Given the description of an element on the screen output the (x, y) to click on. 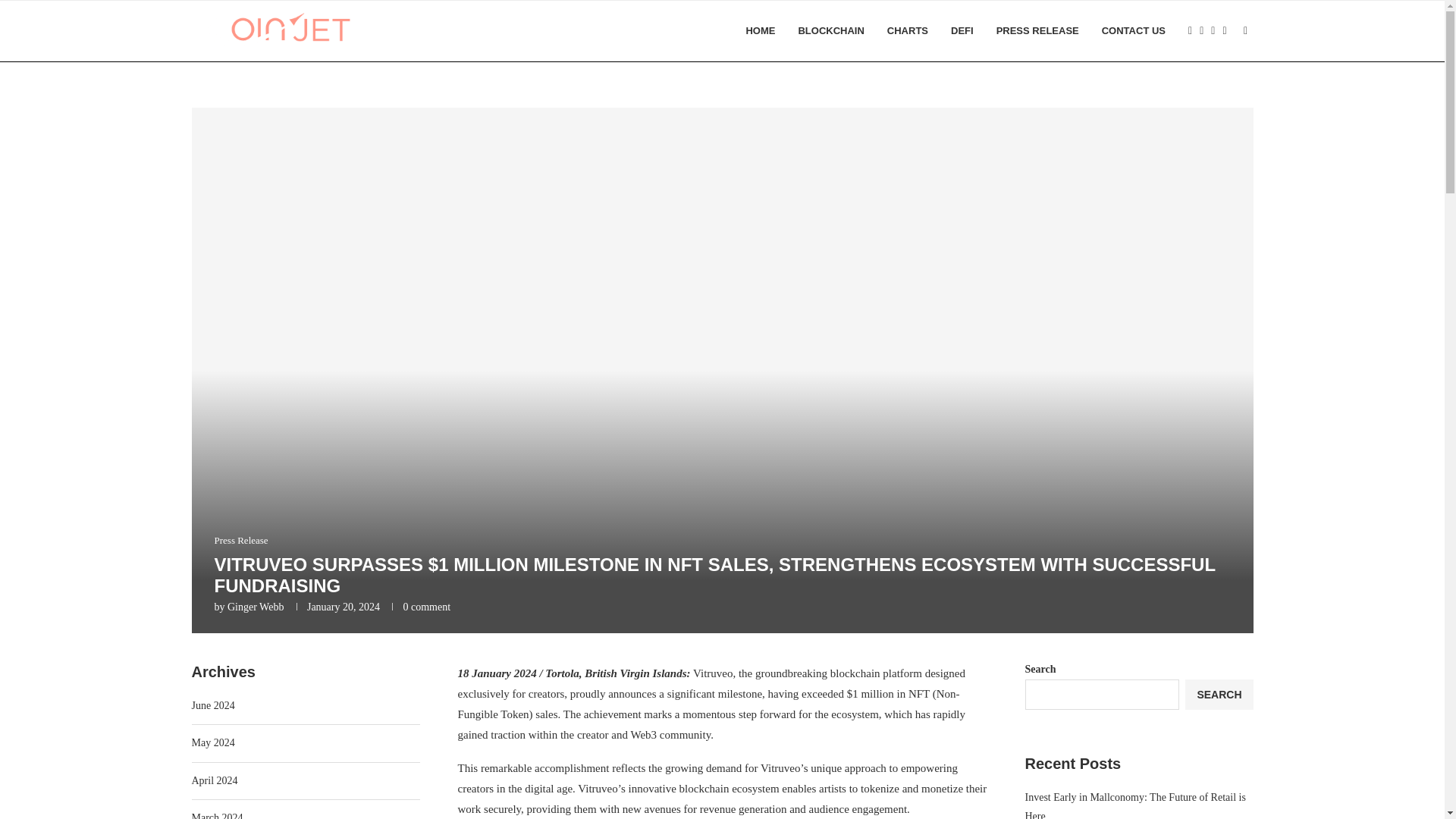
CONTACT US (1134, 30)
BLOCKCHAIN (830, 30)
Press Release (240, 540)
PRESS RELEASE (1036, 30)
Ginger Webb (255, 606)
